Given the description of an element on the screen output the (x, y) to click on. 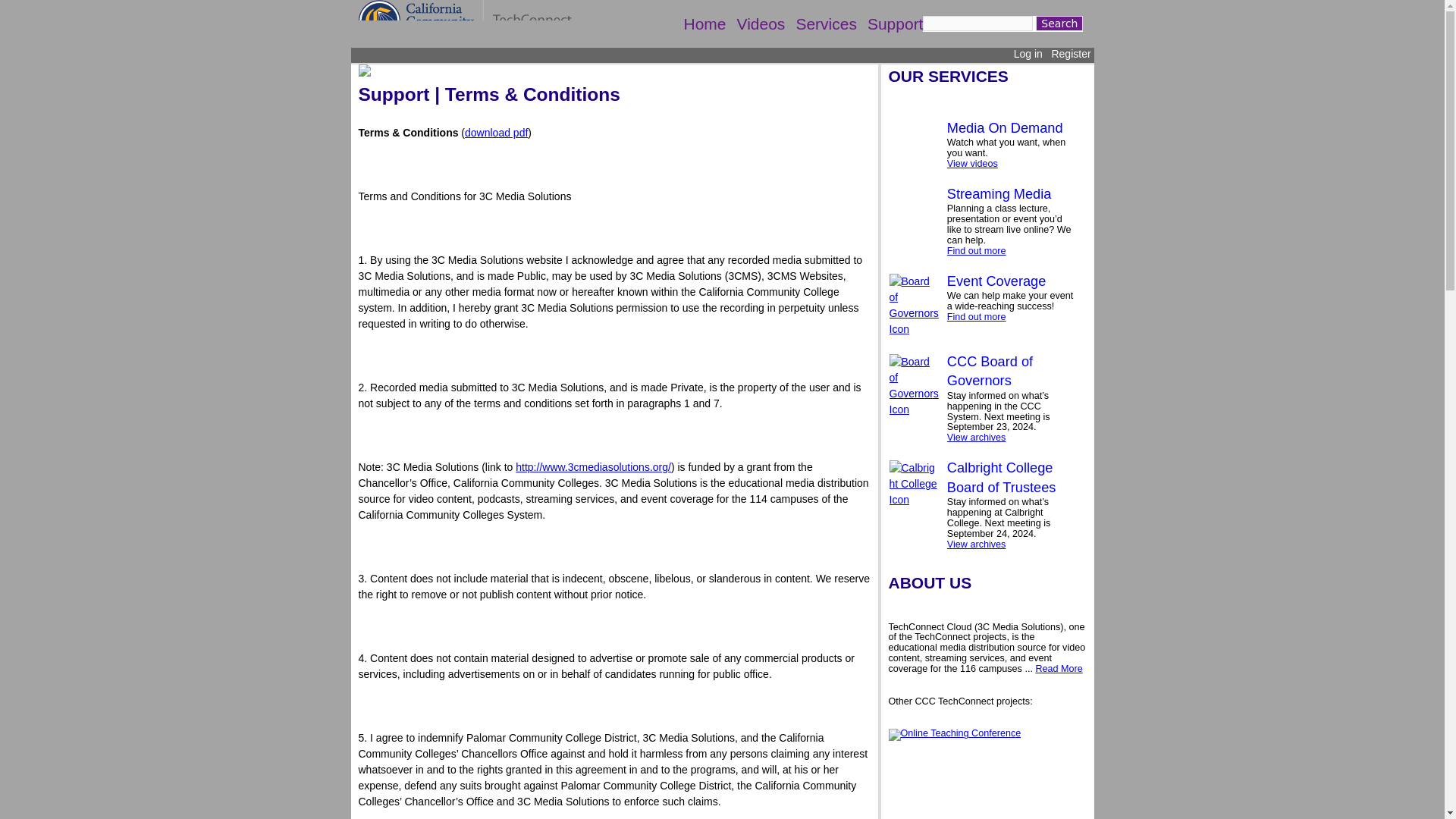
Calbright College Board of Trustees (1002, 477)
View archives (976, 437)
Log in (1027, 53)
Find out more (976, 317)
View videos (972, 163)
Read More (1058, 668)
Media On Demand (1004, 127)
Services (825, 23)
Enter the terms you wish to search for. (977, 23)
CCC Board of Governors (989, 370)
